Given the description of an element on the screen output the (x, y) to click on. 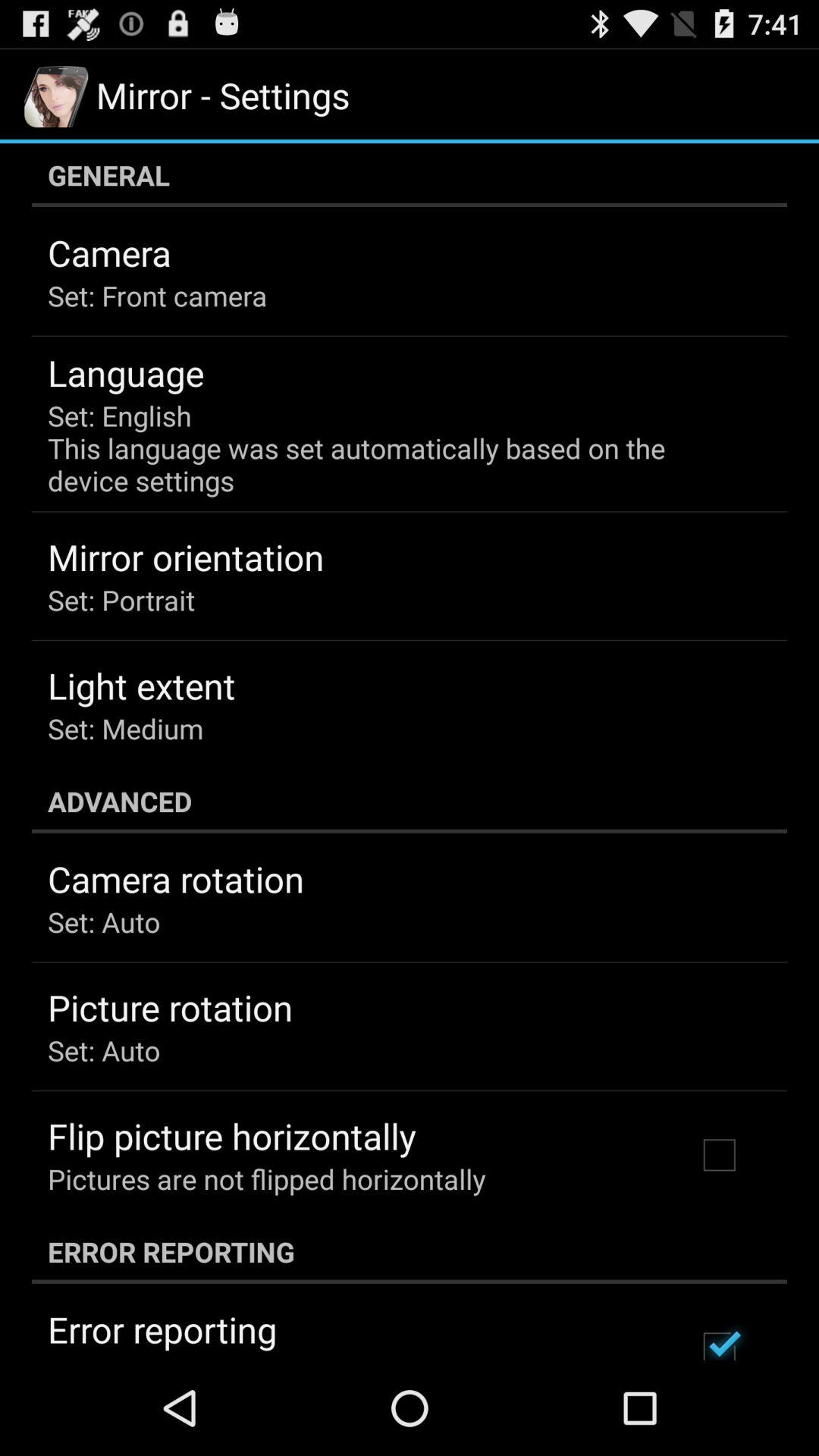
select item above set: medium (141, 685)
